Given the description of an element on the screen output the (x, y) to click on. 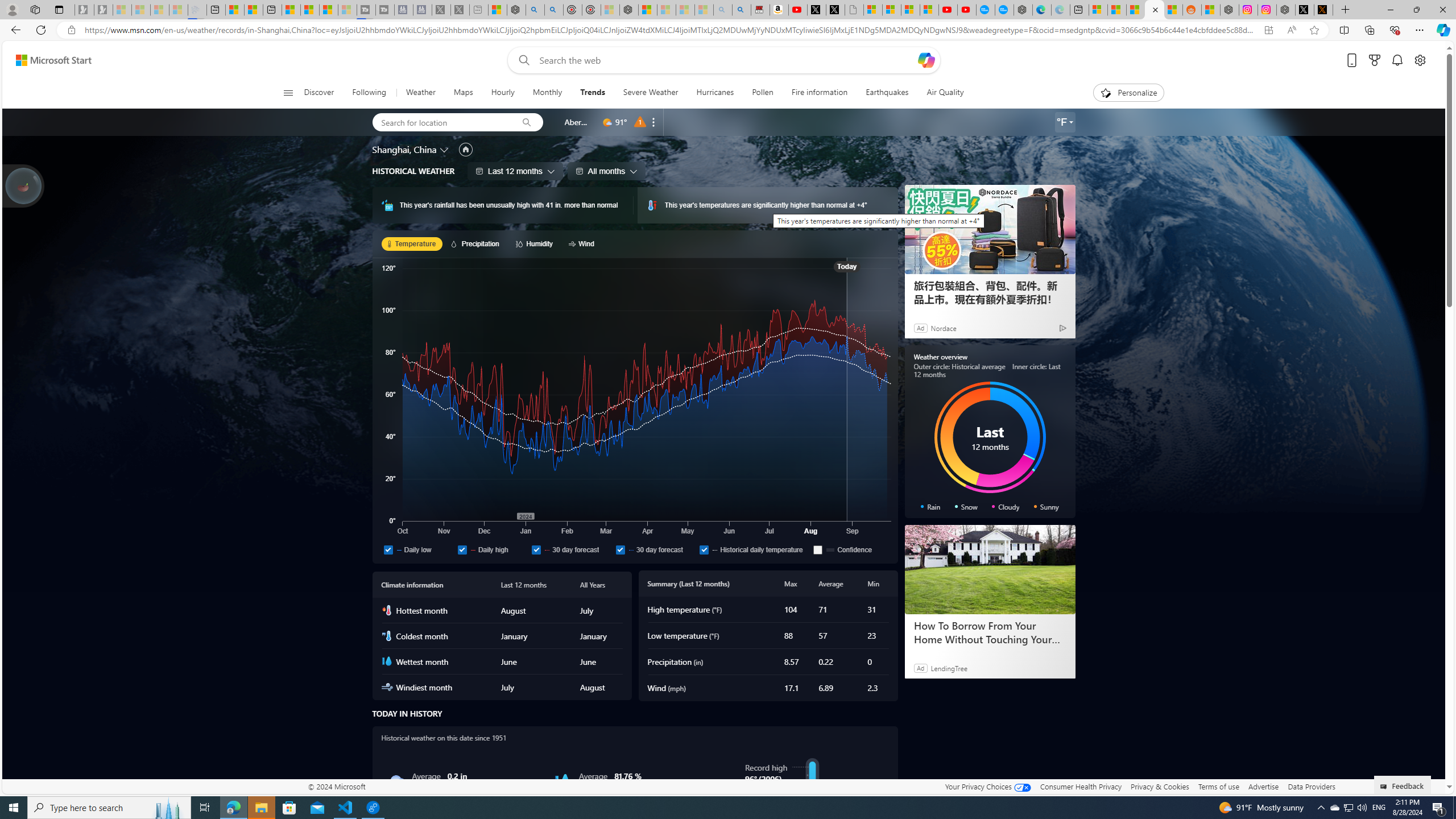
Shanghai, China (403, 149)
App available. Install Microsoft Start Weather (1268, 29)
Open Copilot (926, 59)
poe - Search (534, 9)
Confidence (849, 549)
Last 12 months (515, 170)
Historical daily temperature (753, 549)
Tab actions menu (58, 9)
Search for location (440, 122)
